Given the description of an element on the screen output the (x, y) to click on. 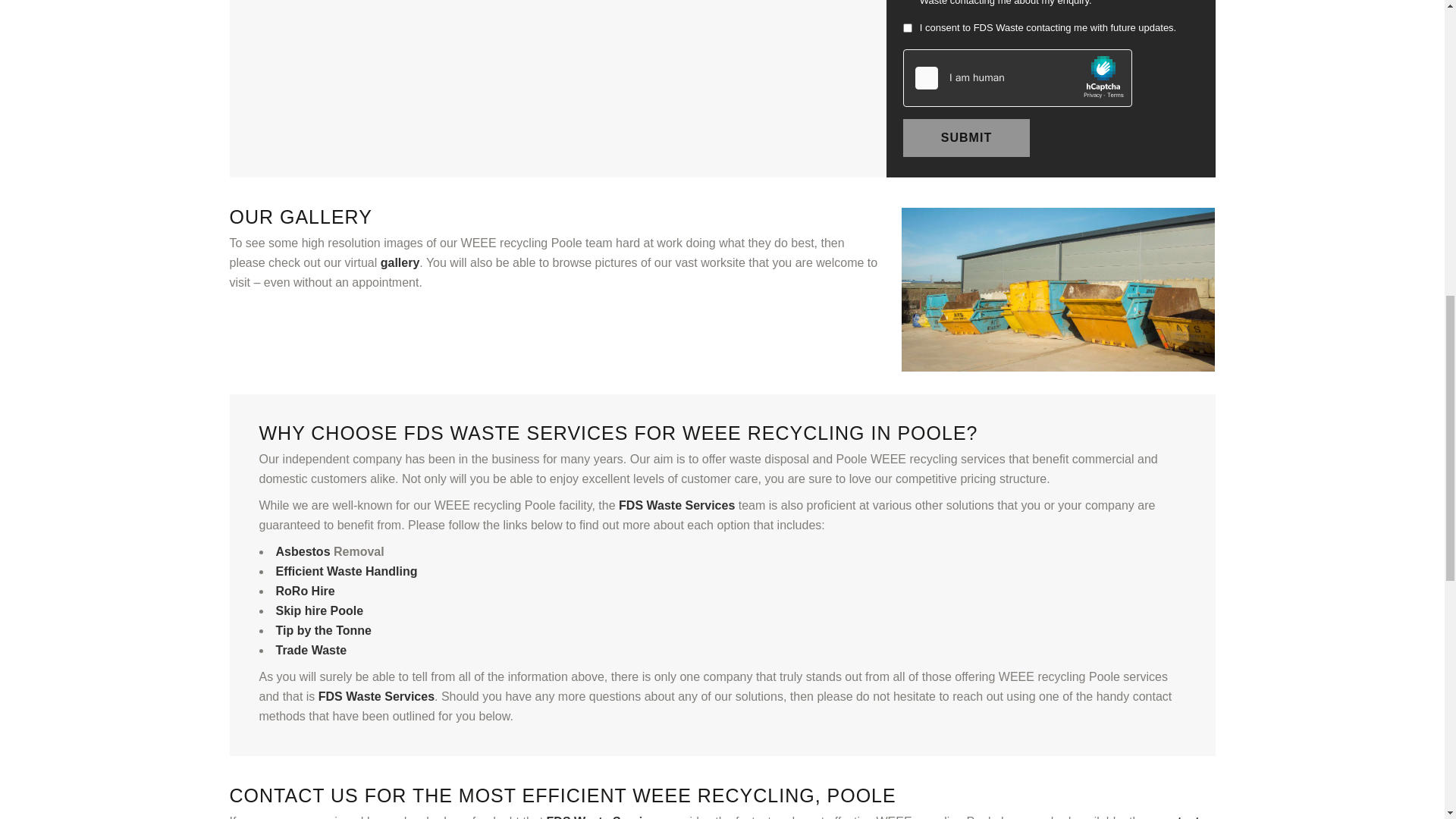
I consent to FDS Waste contacting me with future updates. (1050, 27)
gallery (400, 262)
FDS Waste Services (676, 504)
Tip by the Tonne (324, 630)
Trade Waste (311, 649)
FDS Waste Services (375, 696)
RoRo Hire (305, 590)
Widget containing checkbox for hCaptcha security challenge (1017, 78)
SUBMIT (965, 137)
Asbestos (303, 551)
Skip hire Poole (320, 610)
FDS Waste Services (604, 816)
